Given the description of an element on the screen output the (x, y) to click on. 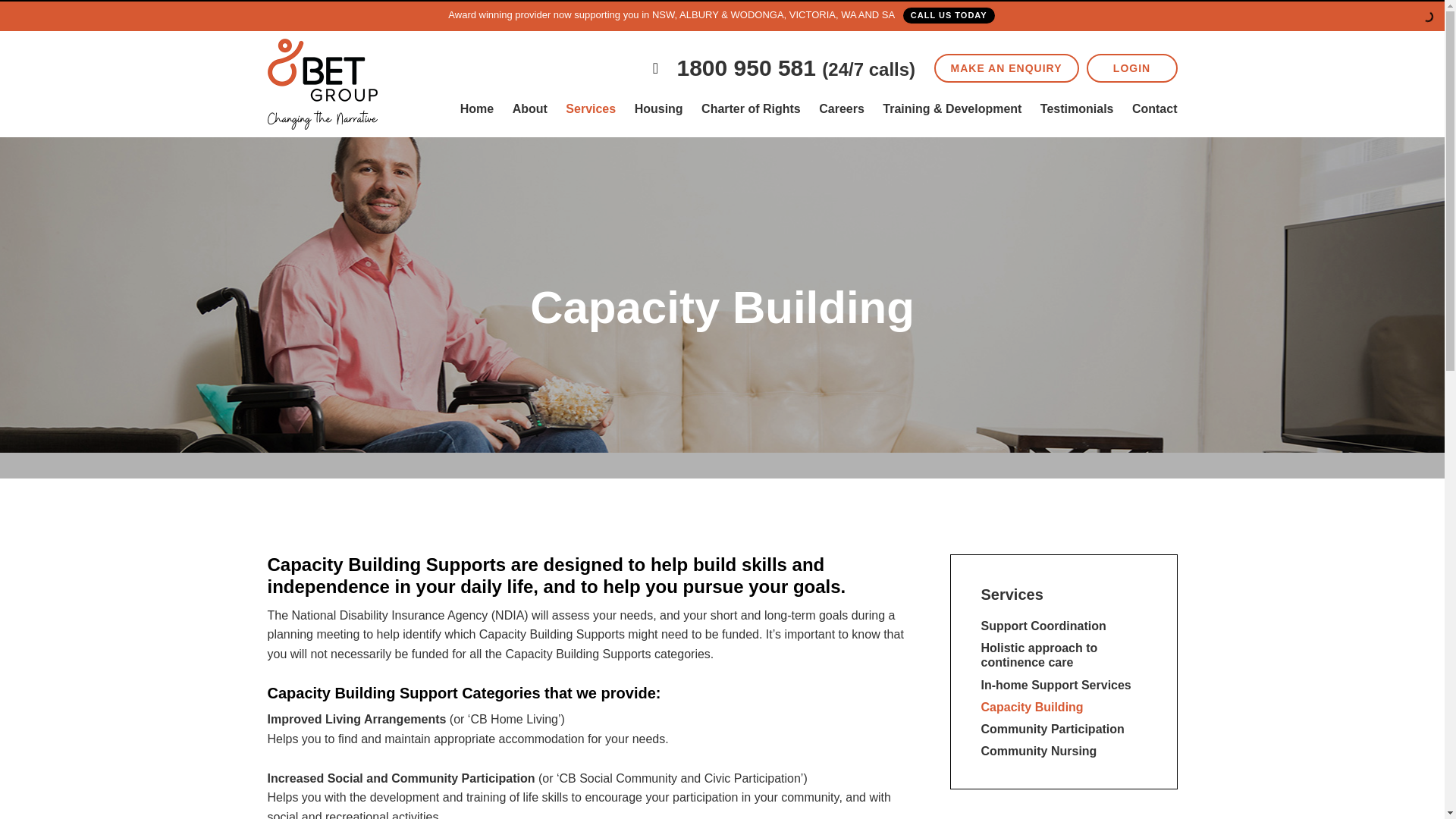
Home (476, 108)
Careers (841, 108)
Community Participation (1052, 728)
CALL US TODAY (948, 15)
About (529, 108)
Housing (658, 108)
Services (1012, 594)
Support Coordination (1043, 625)
LOGIN (1131, 68)
Contact (1154, 108)
